Given the description of an element on the screen output the (x, y) to click on. 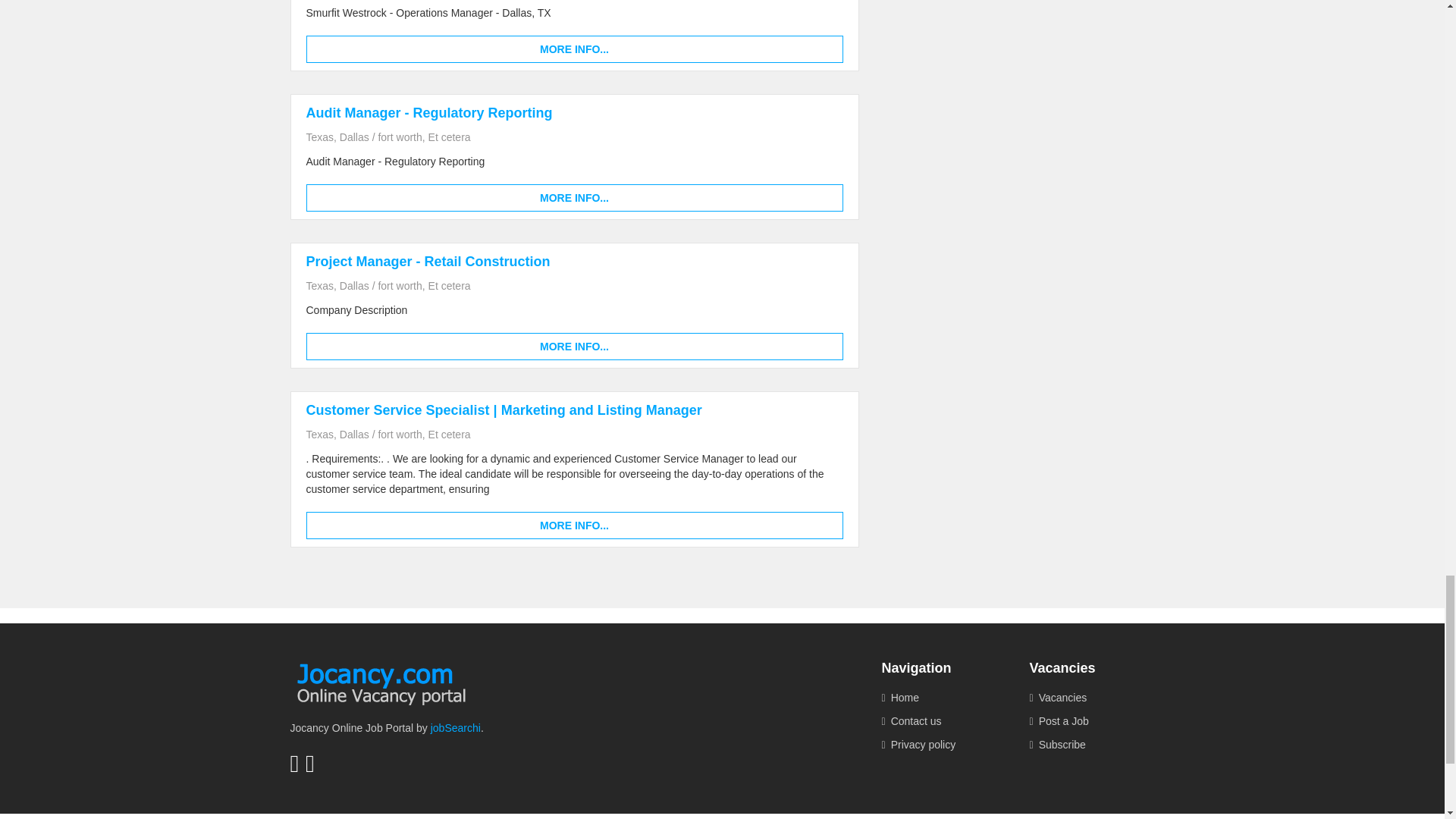
Et cetera (449, 285)
MORE INFO... (574, 49)
Et cetera (449, 137)
Texas (319, 137)
Audit Manager - Regulatory Reporting (429, 112)
Project Manager - Retail Construction (427, 261)
Texas (319, 285)
MORE INFO... (574, 197)
